Given the description of an element on the screen output the (x, y) to click on. 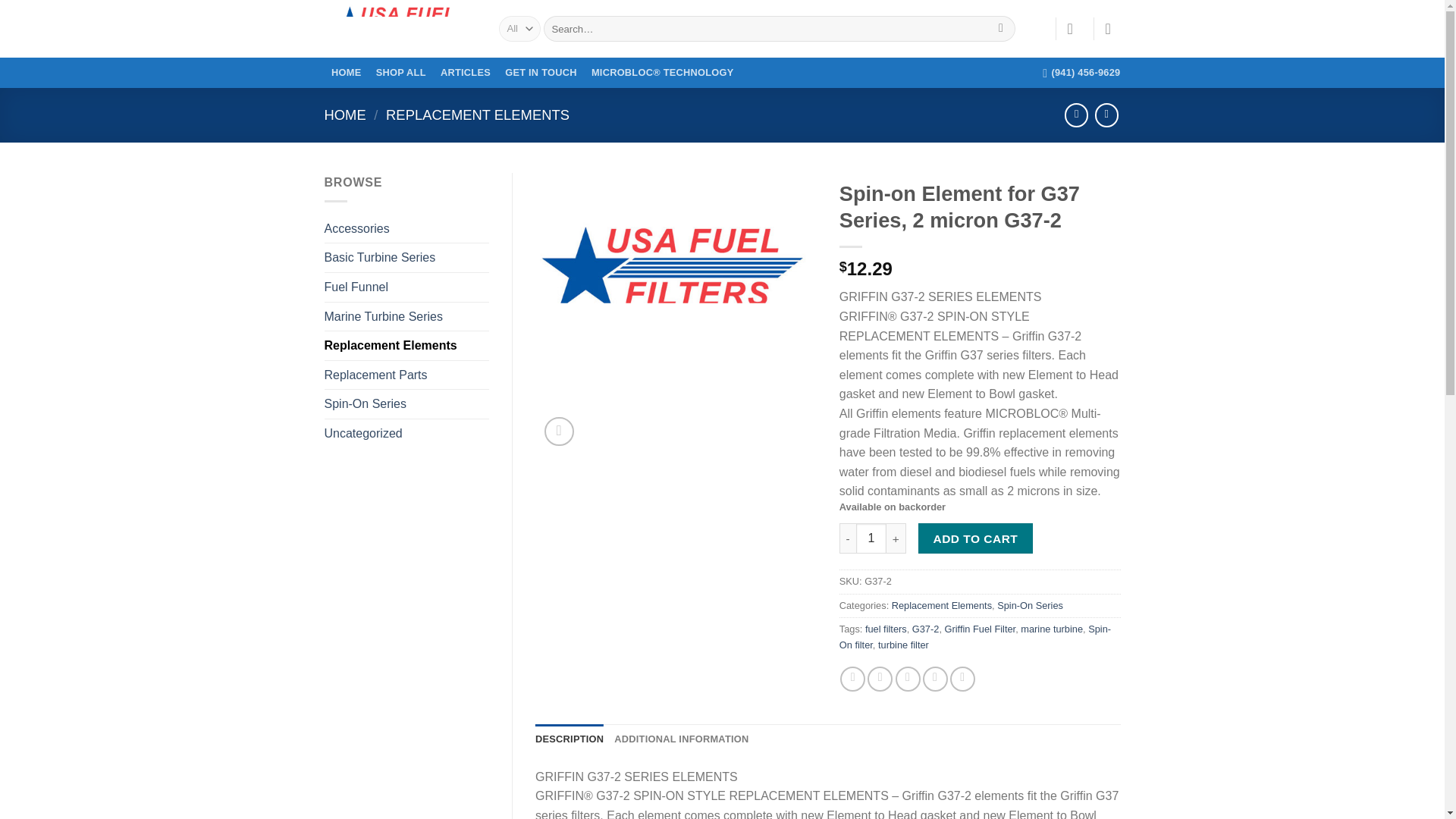
Replacement Elements (406, 345)
Uncategorized (406, 433)
Griffin Fuel Filter (980, 628)
Spin-On filter (975, 636)
SHOP ALL (400, 72)
Replacement Parts (406, 375)
Share on LinkedIn (962, 678)
REPLACEMENT ELEMENTS (477, 114)
Share on Twitter (879, 678)
Accessories (406, 228)
